Given the description of an element on the screen output the (x, y) to click on. 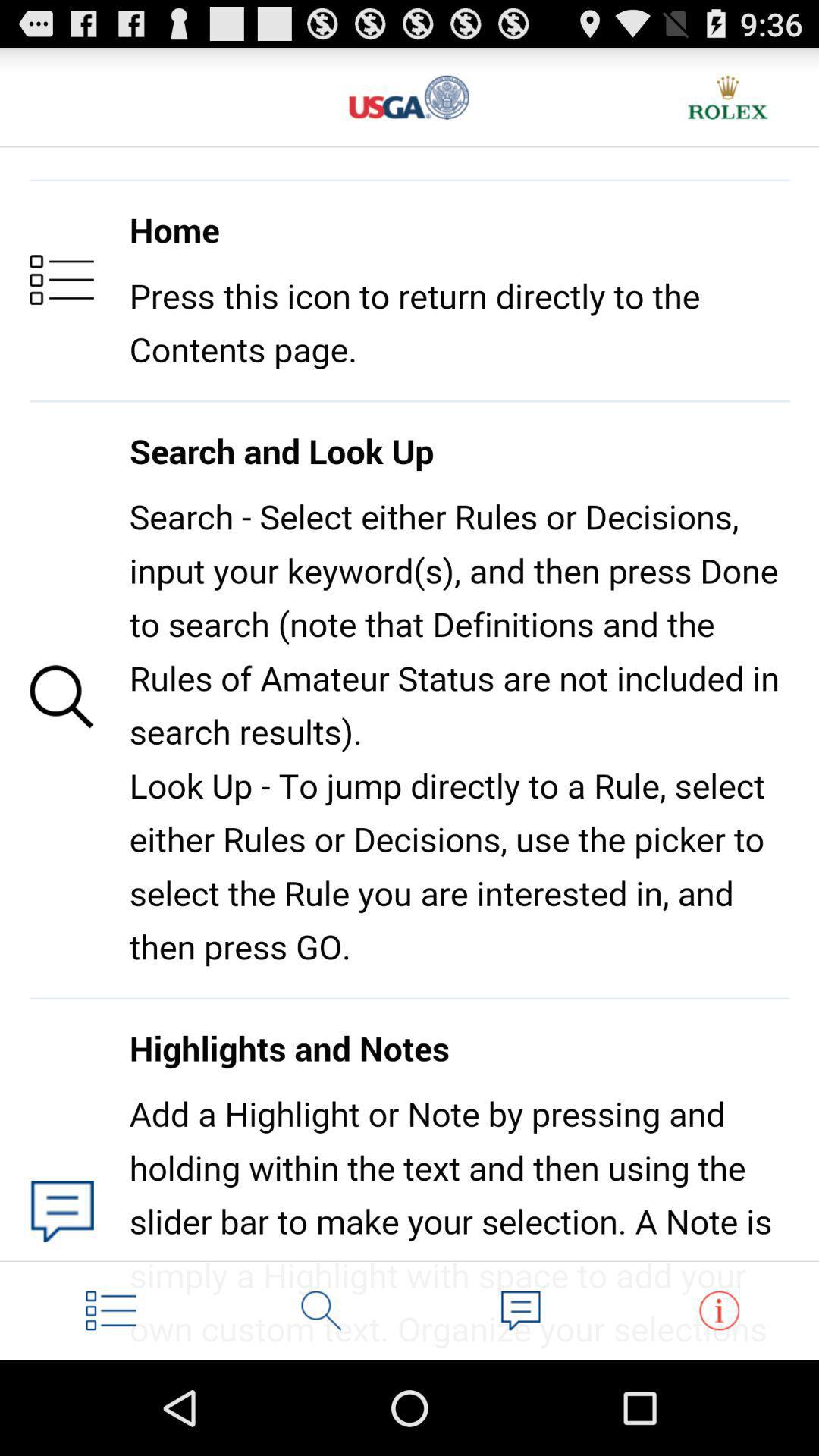
search bar (321, 1310)
